Given the description of an element on the screen output the (x, y) to click on. 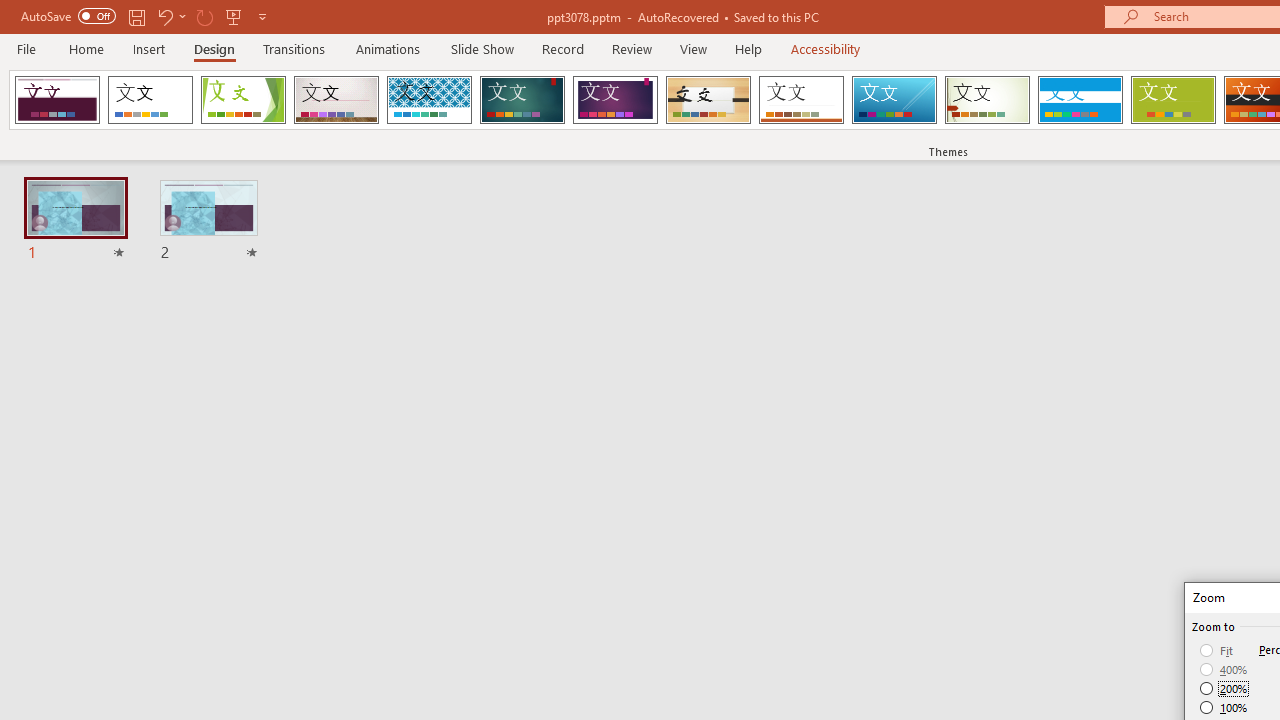
200% (1224, 688)
Integral (429, 100)
Wisp (987, 100)
Retrospect (801, 100)
Ion (522, 100)
